Given the description of an element on the screen output the (x, y) to click on. 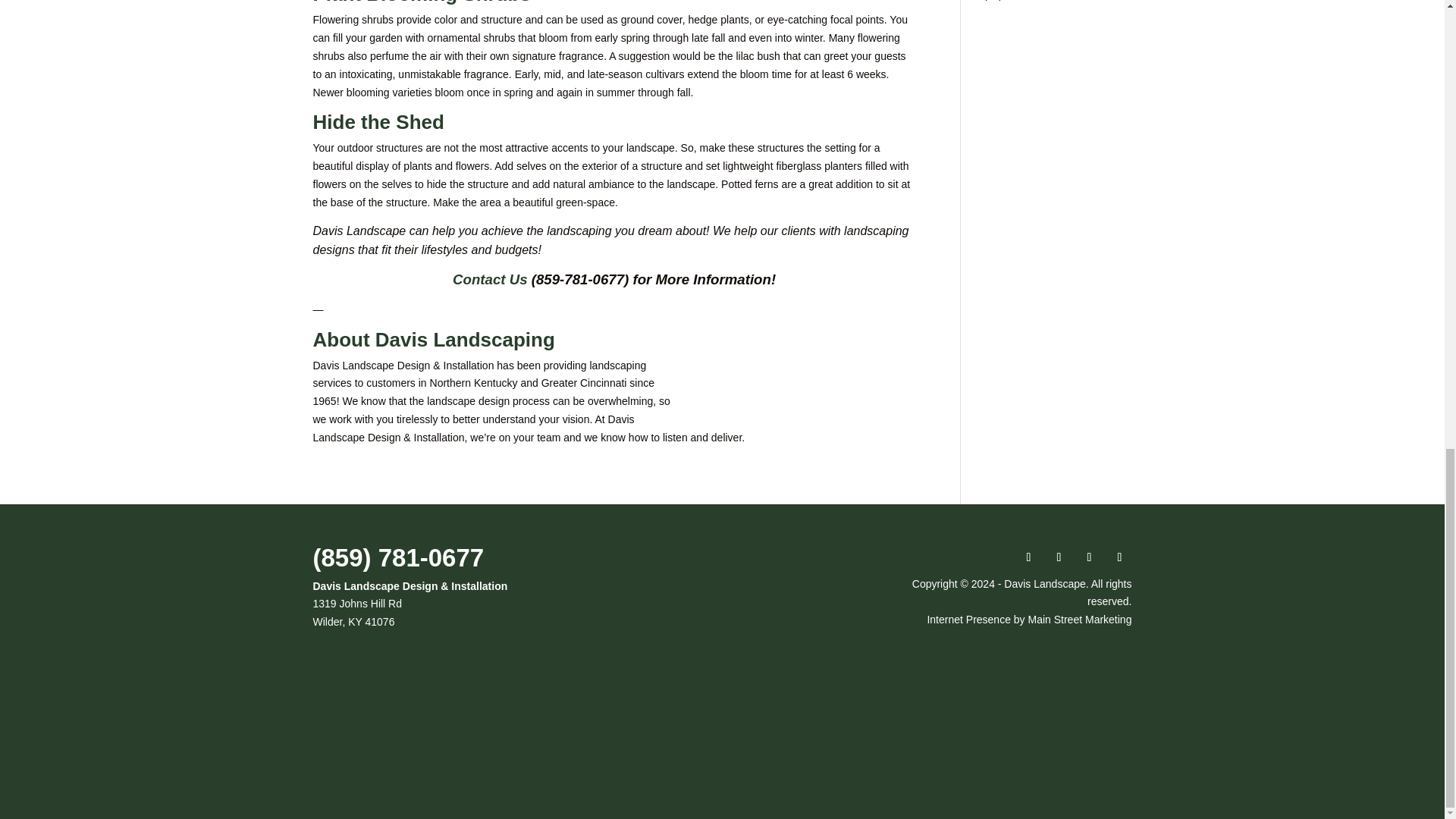
Follow on Instagram (1058, 557)
Contact Us (489, 279)
Follow on LinkedIn (1088, 557)
Follow on X (1118, 557)
Follow on Facebook (1028, 557)
